Given the description of an element on the screen output the (x, y) to click on. 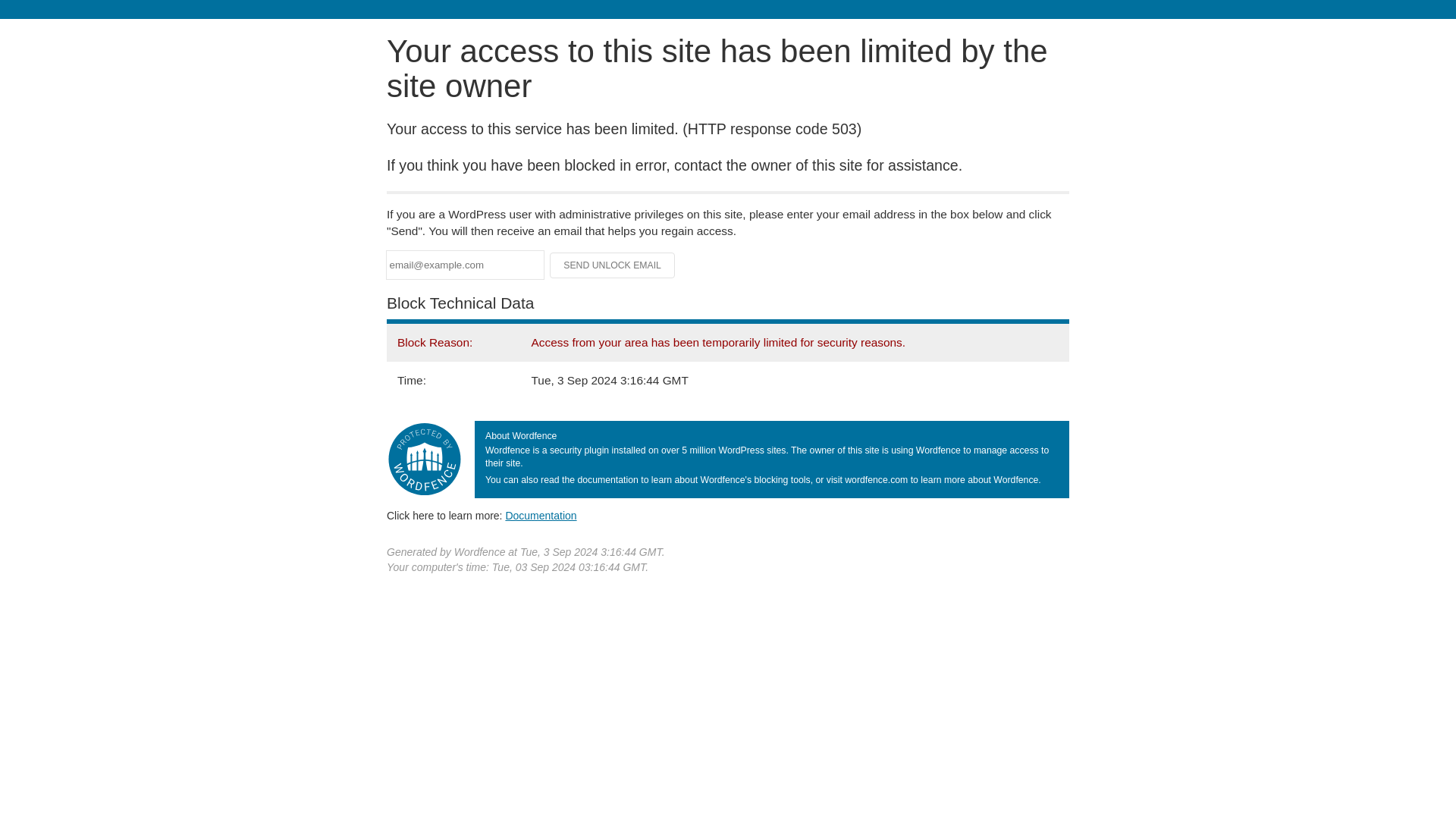
Documentation (540, 515)
Send Unlock Email (612, 265)
Send Unlock Email (612, 265)
